Given the description of an element on the screen output the (x, y) to click on. 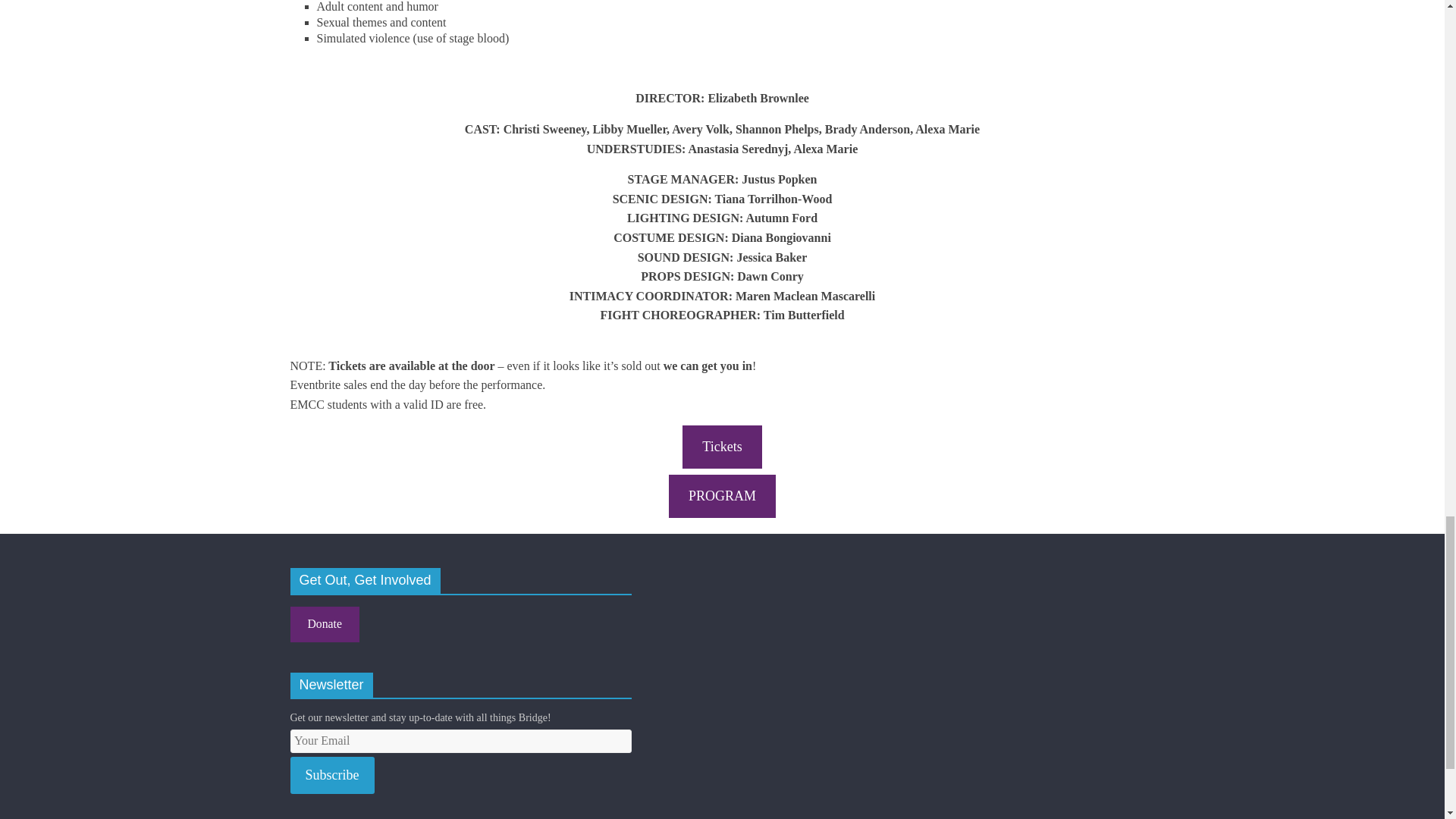
Tickets (721, 446)
Subscribe (331, 774)
Subscribe (331, 774)
PROGRAM (722, 496)
Donate (323, 624)
